Given the description of an element on the screen output the (x, y) to click on. 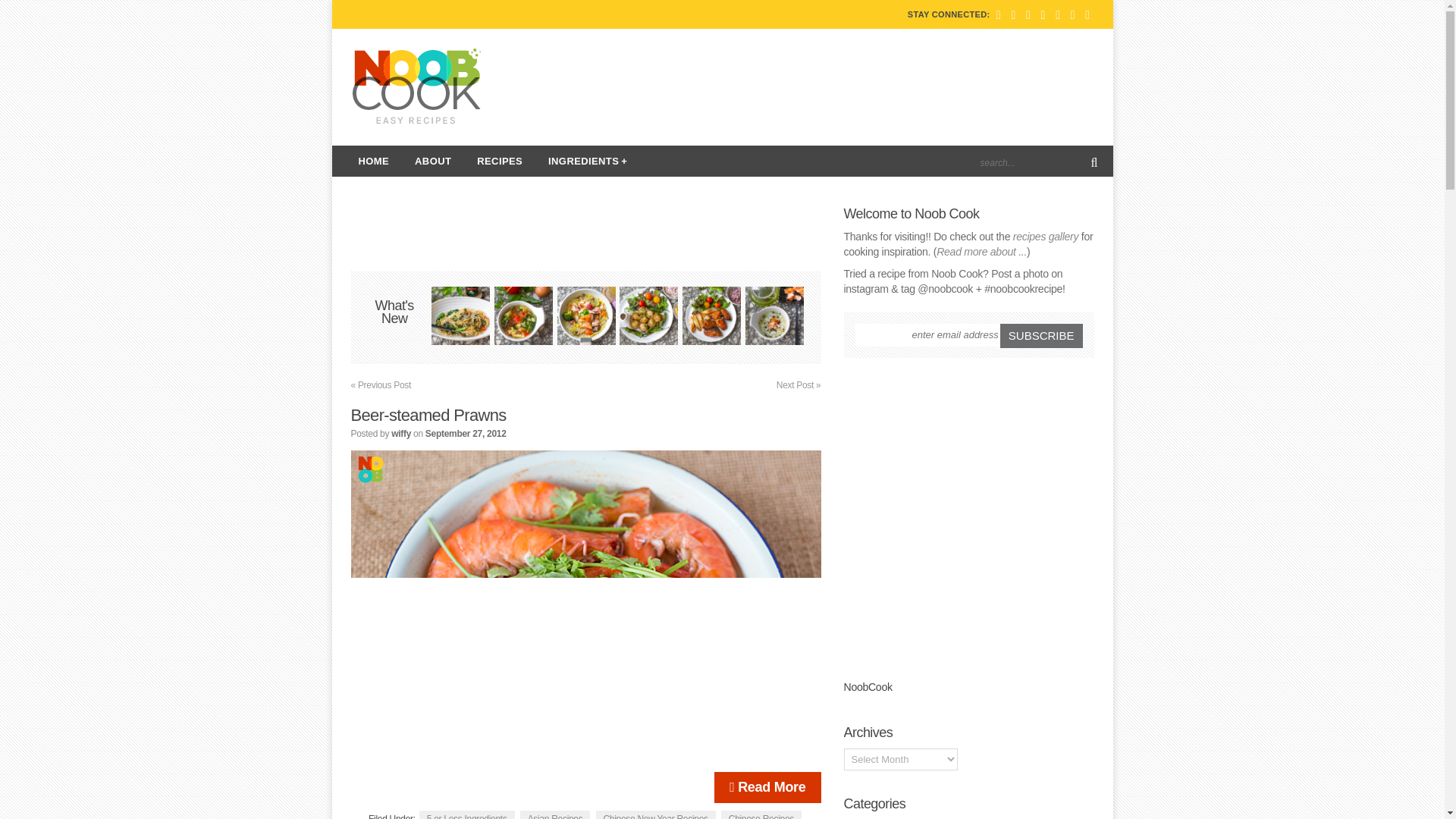
Salmon Umeboshi Pasta (586, 317)
15-Minute Salmon Ochazuke (774, 317)
Chinese New Year Recipes (655, 814)
Spinach Tomato Egg Drop Soup (524, 317)
RECIPES (499, 160)
Asian Recipes (555, 814)
Subscribe (1041, 335)
Kale Peperoncino Pasta (459, 317)
Chinese Recipes (761, 814)
HOME (374, 160)
